Given the description of an element on the screen output the (x, y) to click on. 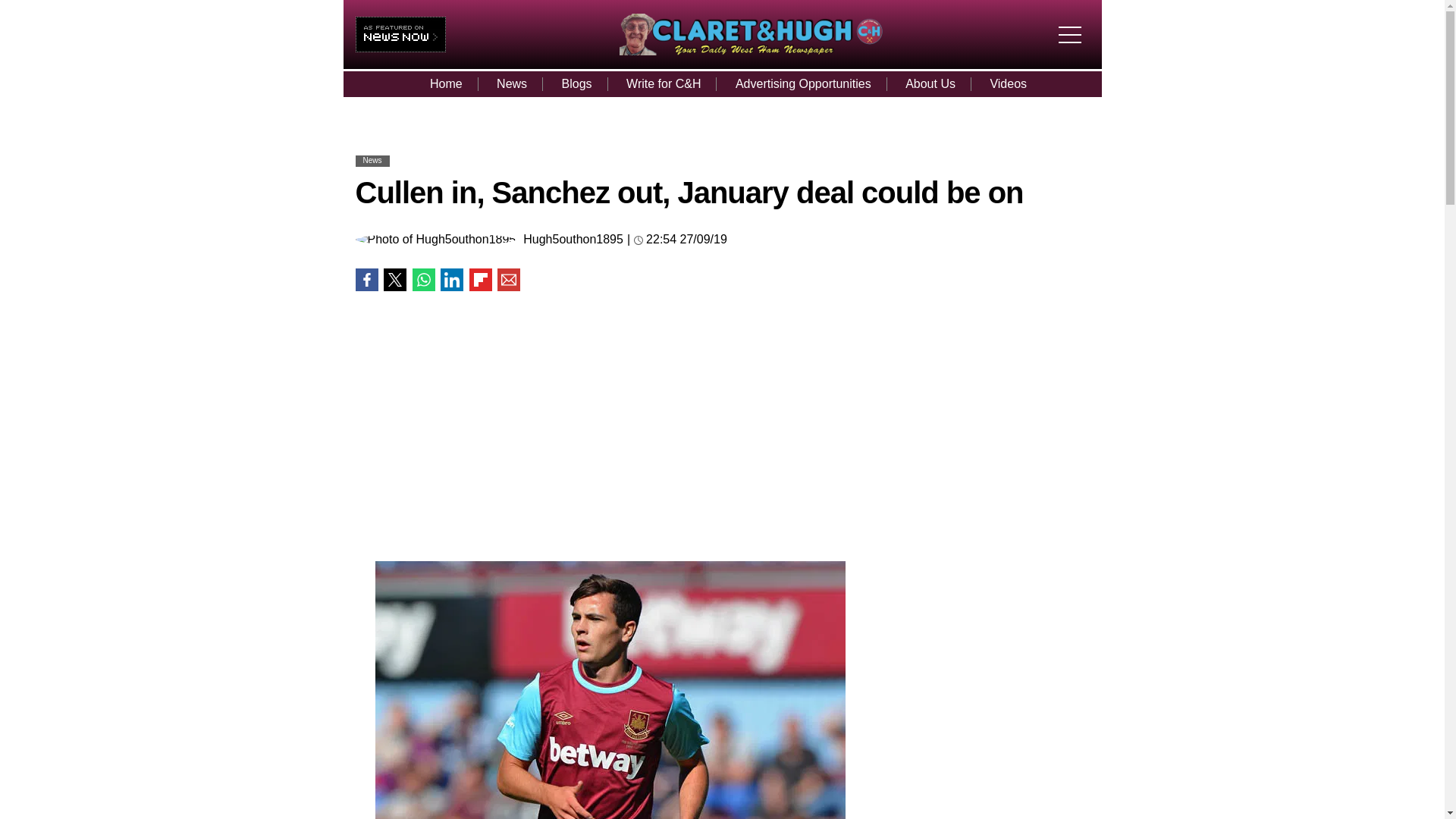
Menu (1074, 21)
Blogs (577, 83)
share on Twitter (395, 279)
share on WhatsApp (423, 279)
Videos (1008, 83)
share on Flipboard (480, 279)
Home (445, 83)
Back to the homepage (750, 51)
share on Email (508, 279)
About Us (930, 83)
